Given the description of an element on the screen output the (x, y) to click on. 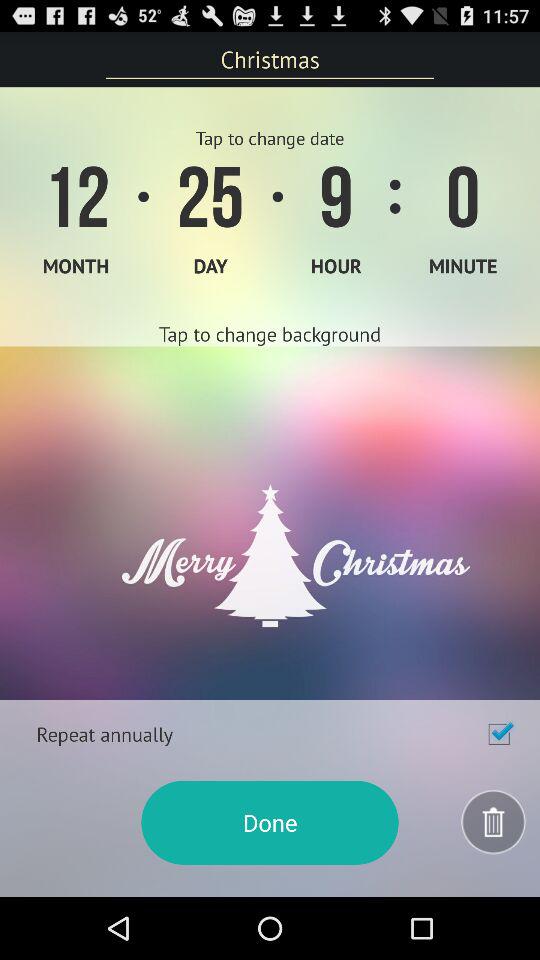
delete (493, 822)
